Given the description of an element on the screen output the (x, y) to click on. 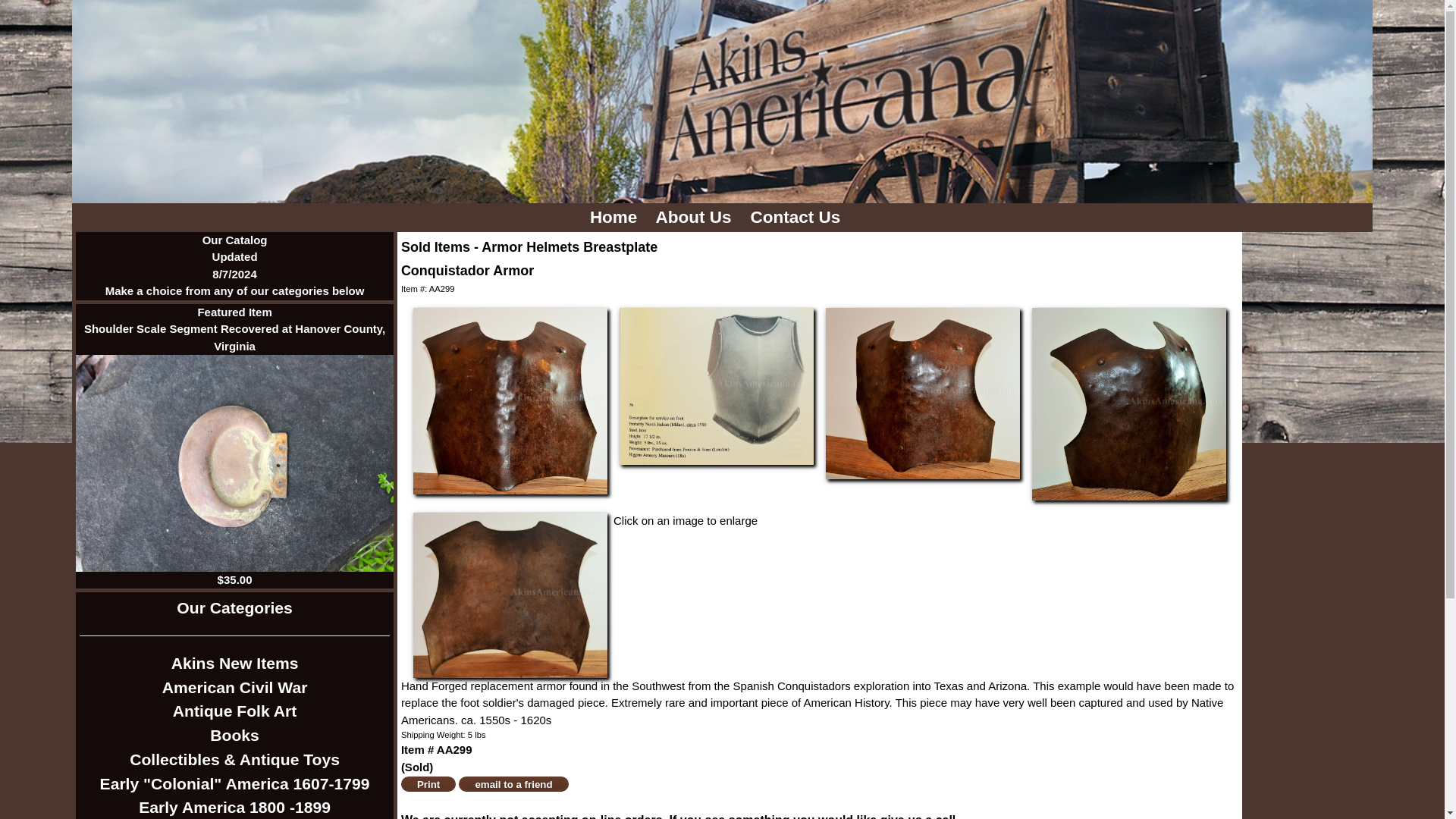
email to a friend (512, 783)
Contact Us (798, 217)
About Us (696, 217)
Click to see our items from Akins New Items (235, 663)
Armor Helmets Breastplate (569, 246)
Click to see our items from Books (235, 735)
Antique Folk Art (235, 711)
Akins New Items (235, 663)
Click to see our items from Early America 1800 -1899 (235, 807)
Early America 1800 -1899 (235, 807)
